Given the description of an element on the screen output the (x, y) to click on. 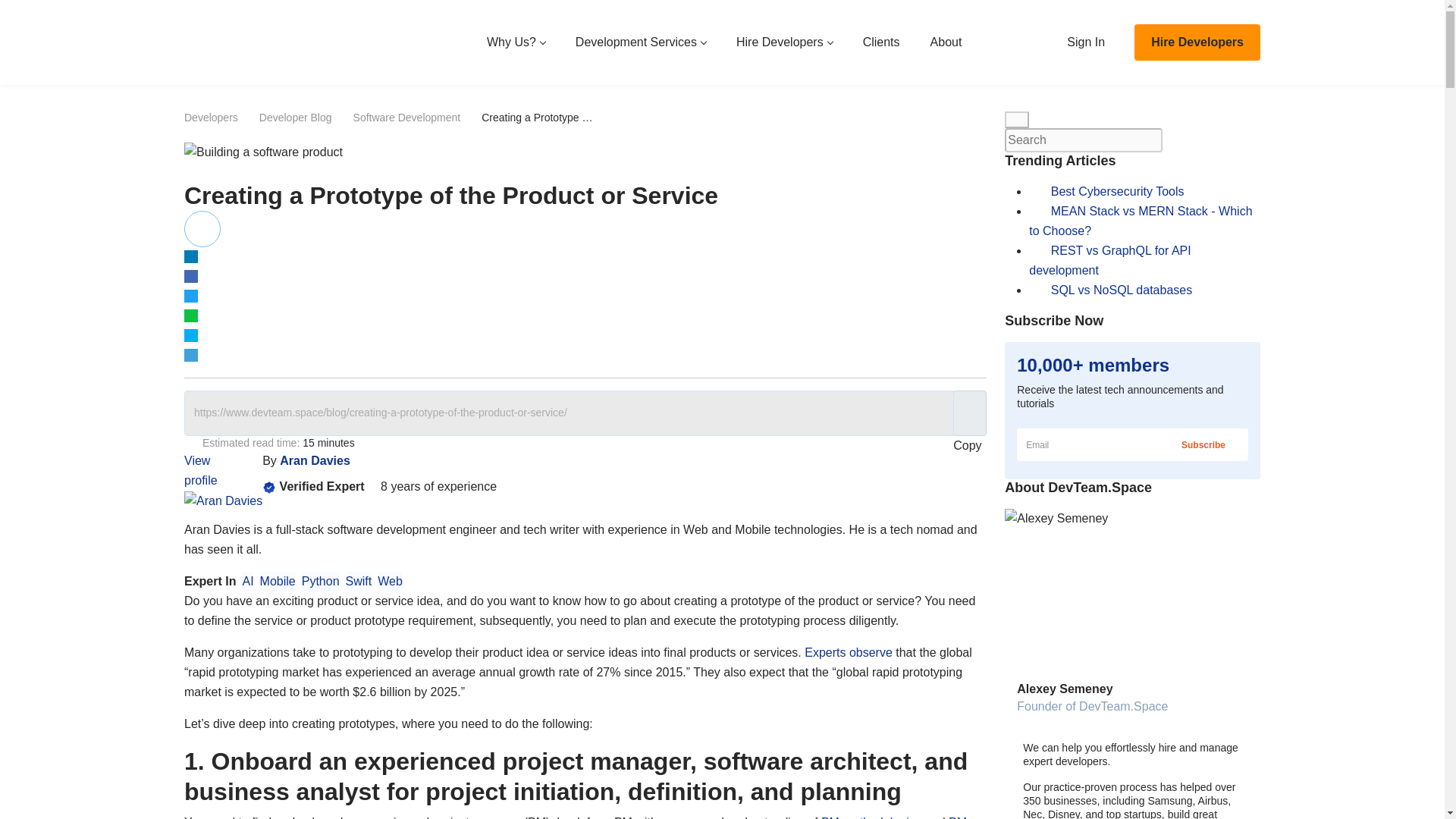
Developer Blog (295, 117)
Hire Developers (784, 42)
Hire Developers (1197, 42)
LinkedIn (191, 256)
Whatsapp (191, 315)
About (946, 42)
Software Development (407, 117)
Clients (881, 42)
Aran Davies (314, 460)
